Given the description of an element on the screen output the (x, y) to click on. 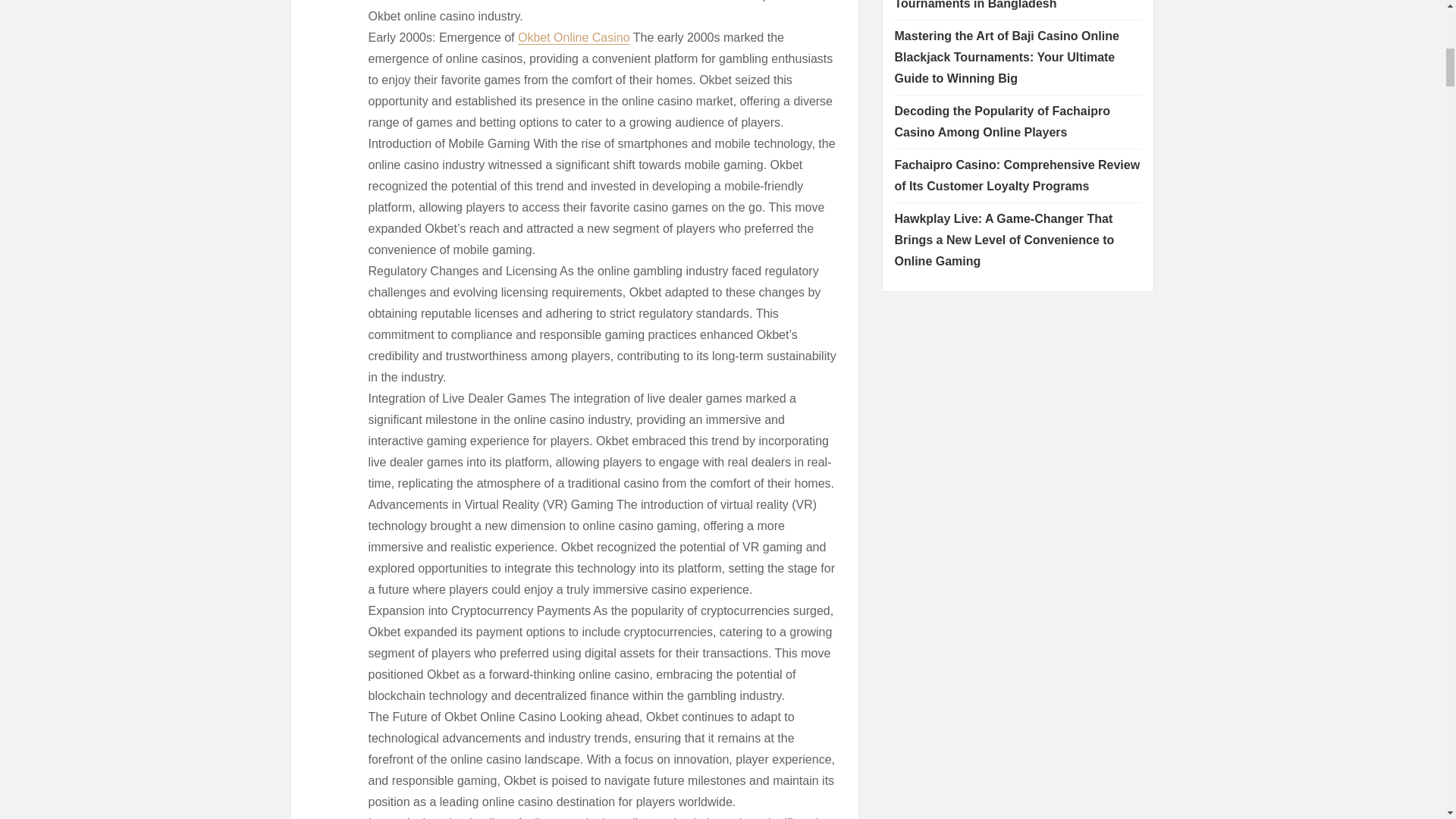
Okbet Online Casino (574, 37)
